Given the description of an element on the screen output the (x, y) to click on. 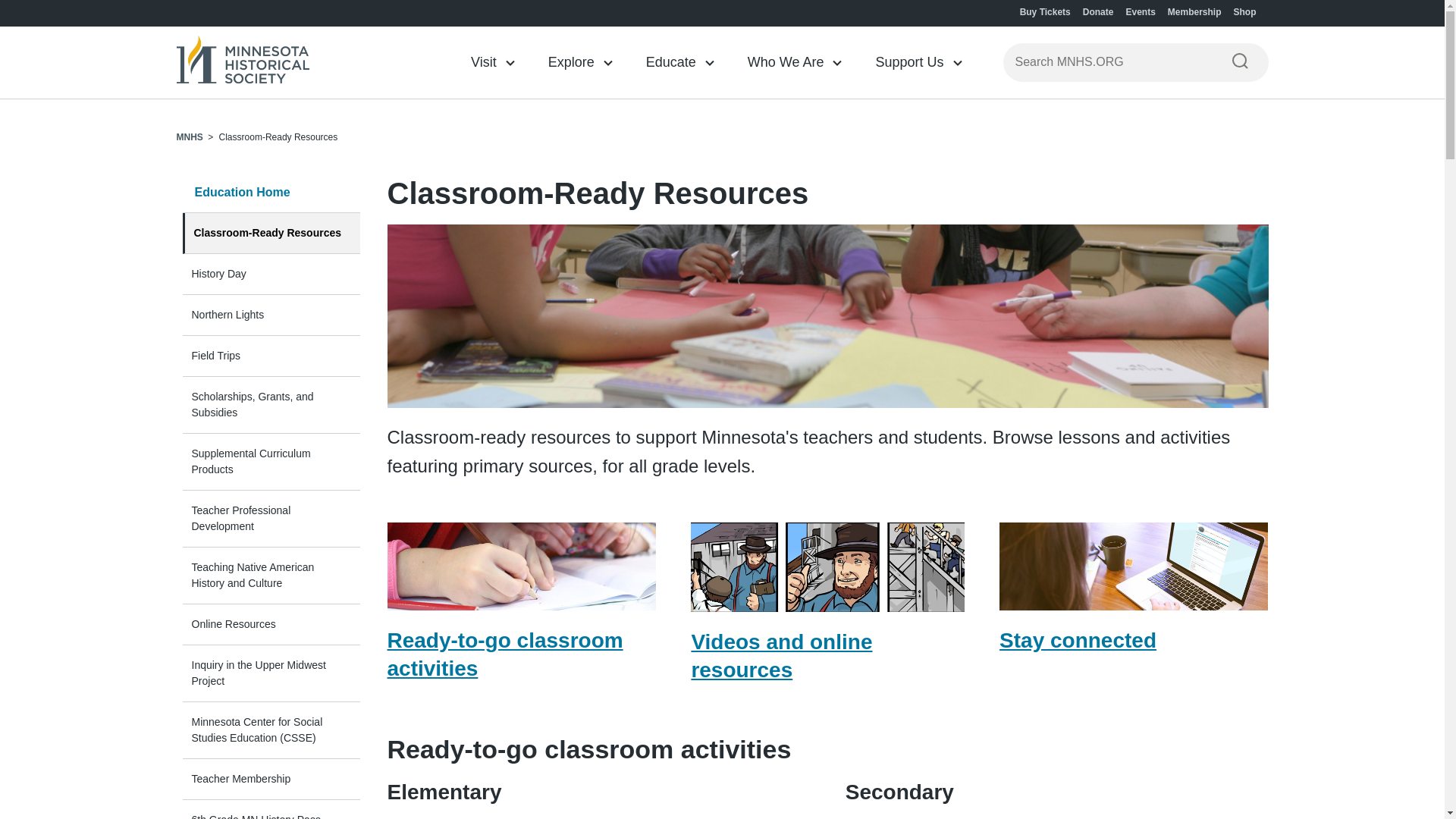
Image (242, 61)
Search Search the Minnesota Historical Society website (1239, 60)
